Given the description of an element on the screen output the (x, y) to click on. 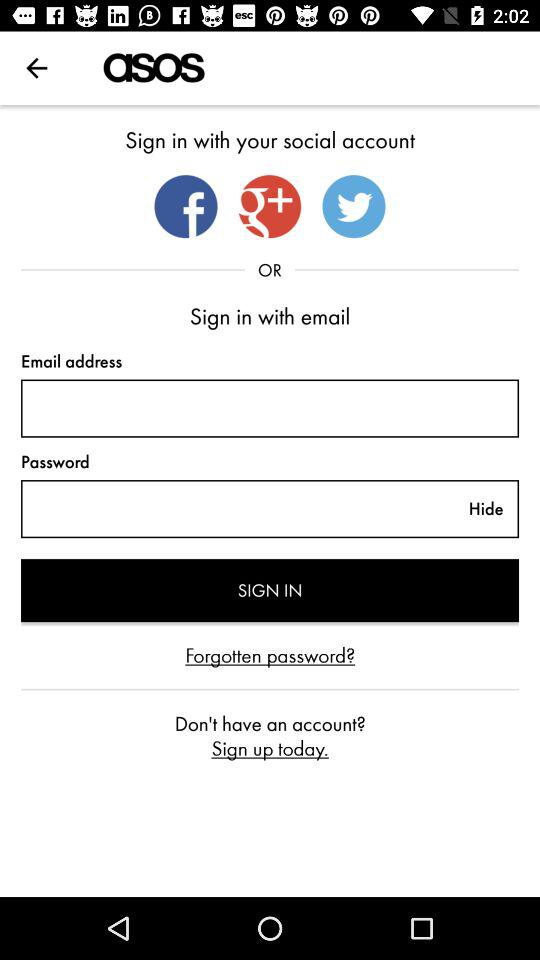
google plus (269, 206)
